Given the description of an element on the screen output the (x, y) to click on. 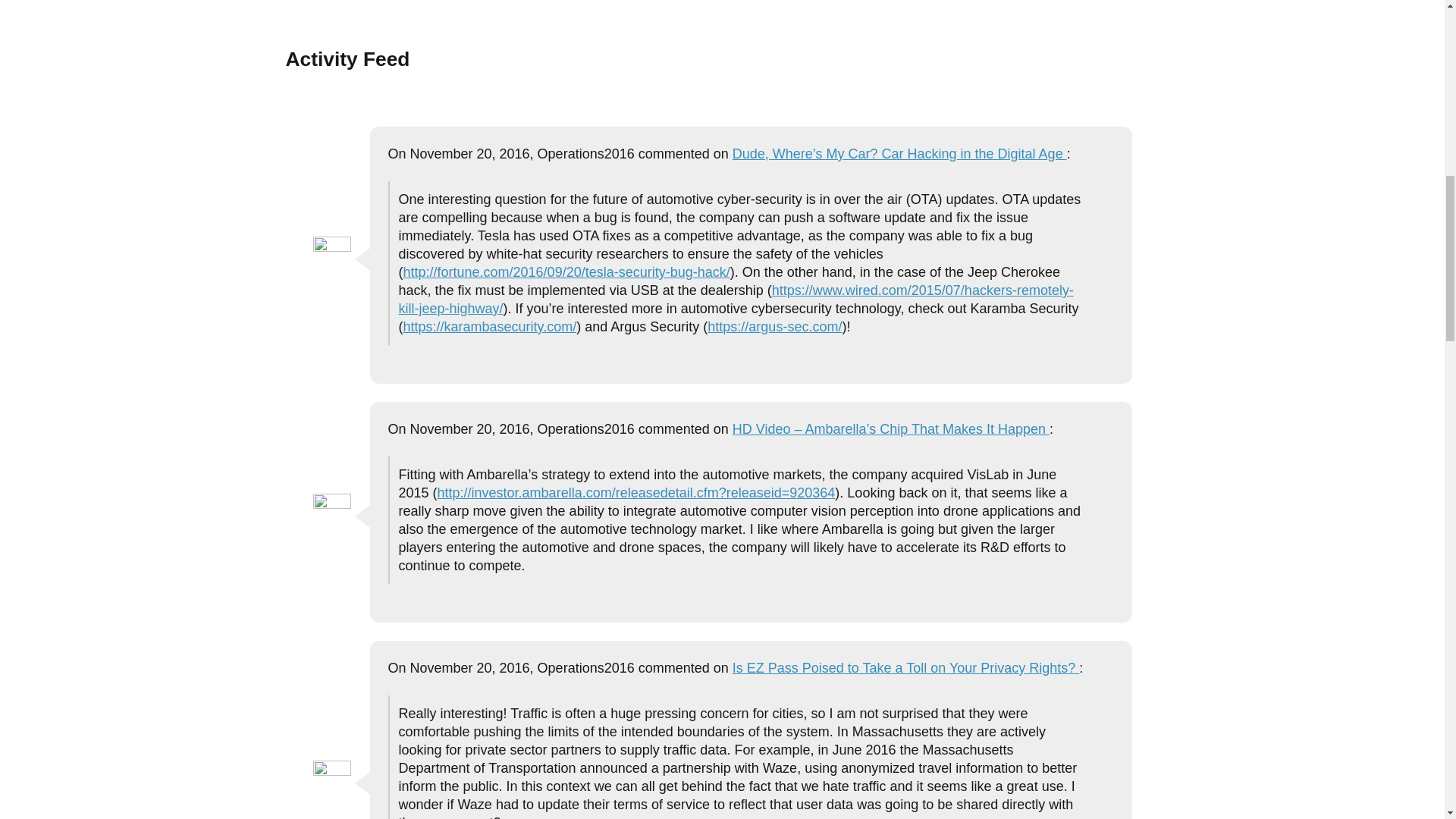
Is EZ Pass Poised to Take a Toll on Your Privacy Rights? (906, 667)
